Given the description of an element on the screen output the (x, y) to click on. 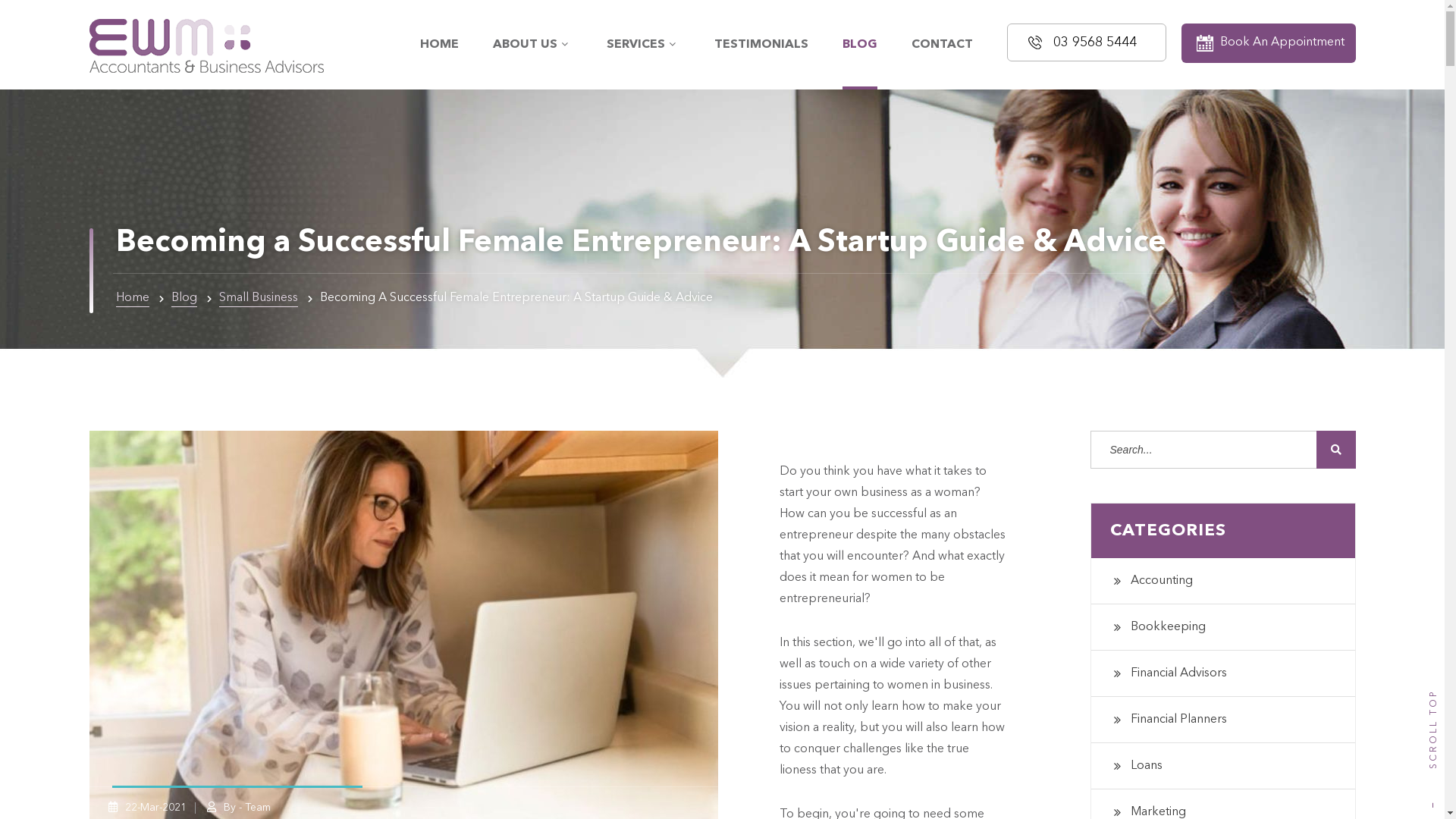
CONTACT Element type: text (941, 44)
Small Business Element type: text (257, 297)
ABOUT US Element type: text (532, 44)
Blog Element type: text (184, 297)
SCROLL TOP Element type: text (1432, 794)
Search for: Blogs Element type: hover (1222, 449)
TESTIMONIALS Element type: text (761, 44)
SERVICES Element type: text (643, 44)
03 9568 5444 Element type: text (1086, 42)
BLOG Element type: text (858, 44)
Book An Appointment Element type: text (1268, 42)
issues pertaining to women in business Element type: text (884, 685)
Financial Planners Element type: text (1222, 719)
HOME Element type: text (439, 44)
Home Element type: text (131, 297)
Bookkeeping Element type: text (1222, 626)
Financial Advisors Element type: text (1222, 673)
Accounting Element type: text (1222, 580)
Loans Element type: text (1222, 765)
